Given the description of an element on the screen output the (x, y) to click on. 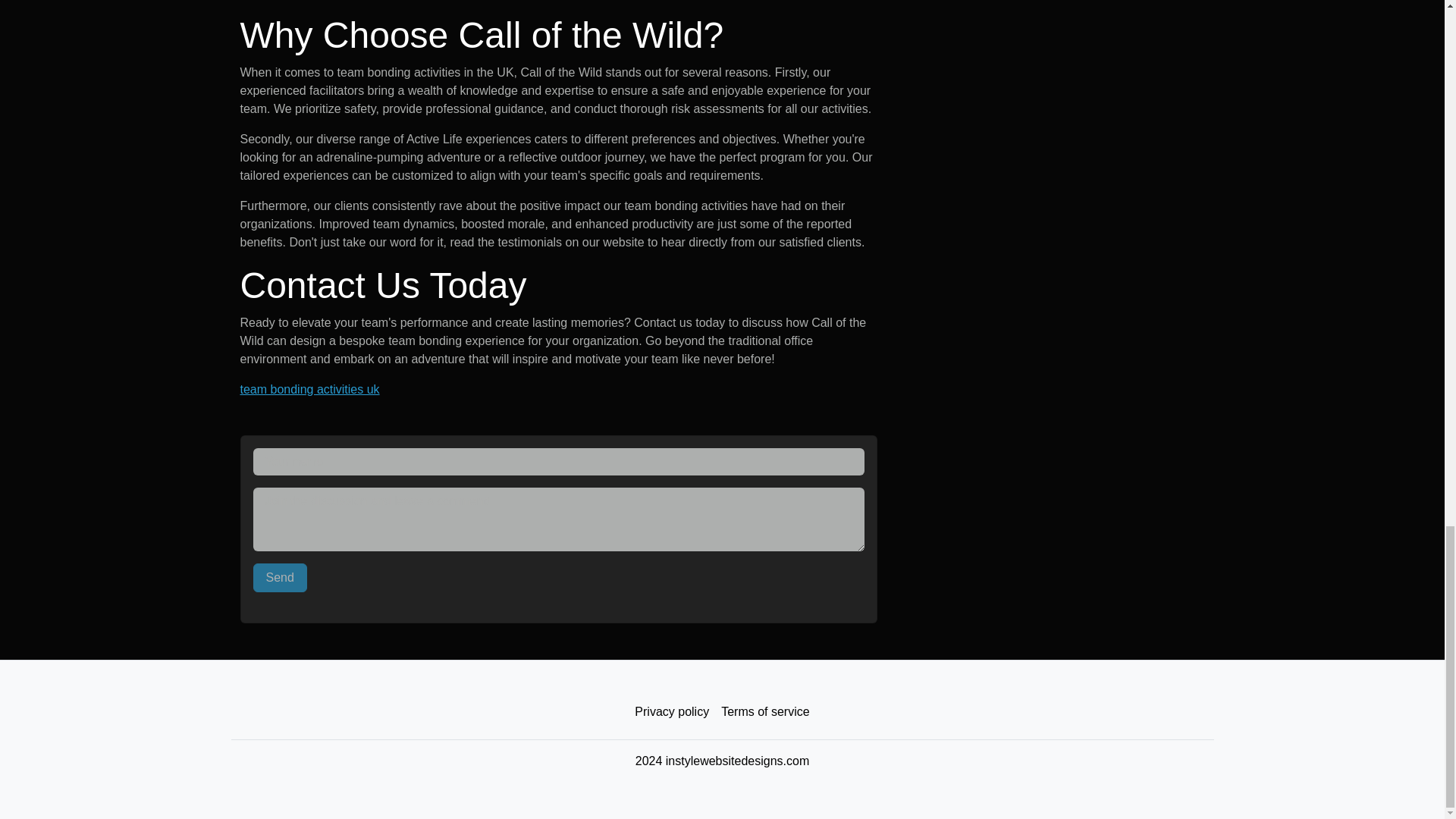
Terms of service (764, 711)
Send (280, 577)
Send (280, 577)
Privacy policy (671, 711)
team bonding activities uk (309, 389)
